Given the description of an element on the screen output the (x, y) to click on. 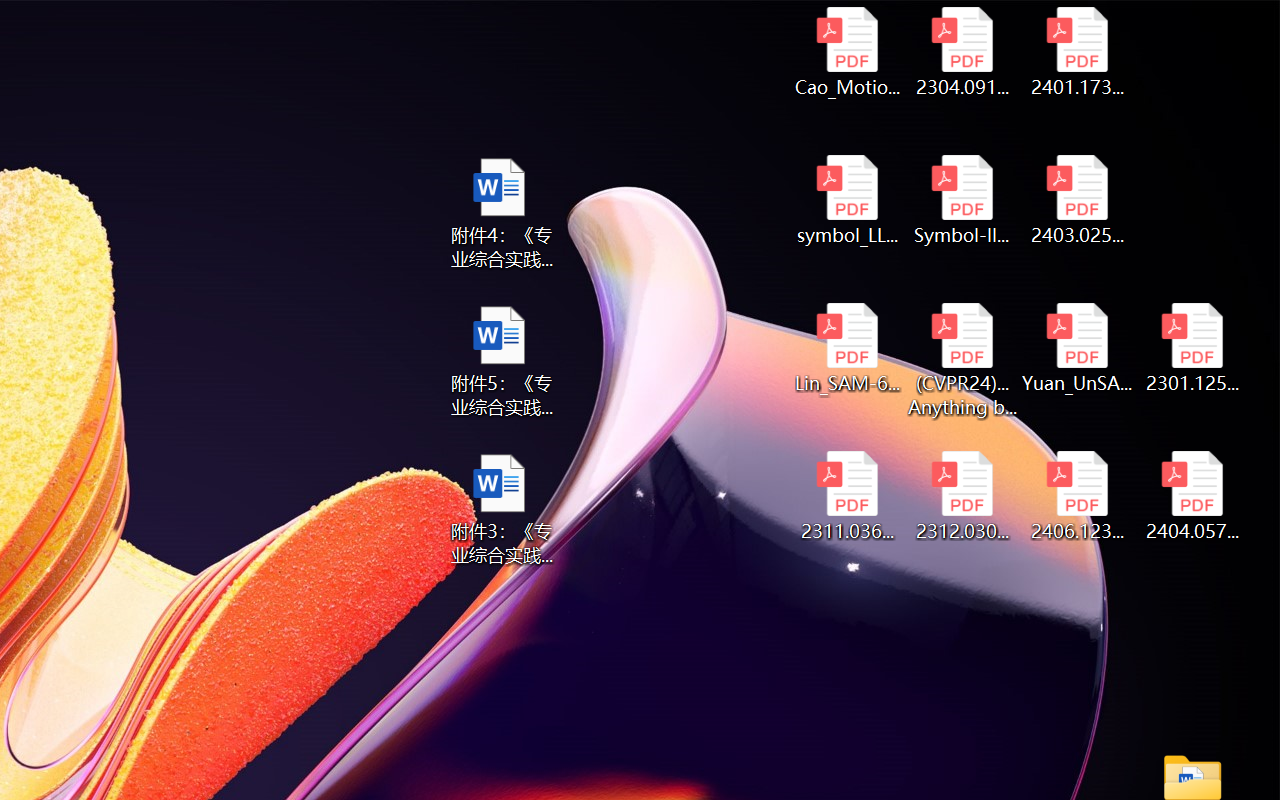
2311.03658v2.pdf (846, 496)
Symbol-llm-v2.pdf (962, 200)
2312.03032v2.pdf (962, 496)
2406.12373v2.pdf (1077, 496)
2401.17399v1.pdf (1077, 52)
(CVPR24)Matching Anything by Segmenting Anything.pdf (962, 360)
2301.12597v3.pdf (1192, 348)
2404.05719v1.pdf (1192, 496)
symbol_LLM.pdf (846, 200)
